Given the description of an element on the screen output the (x, y) to click on. 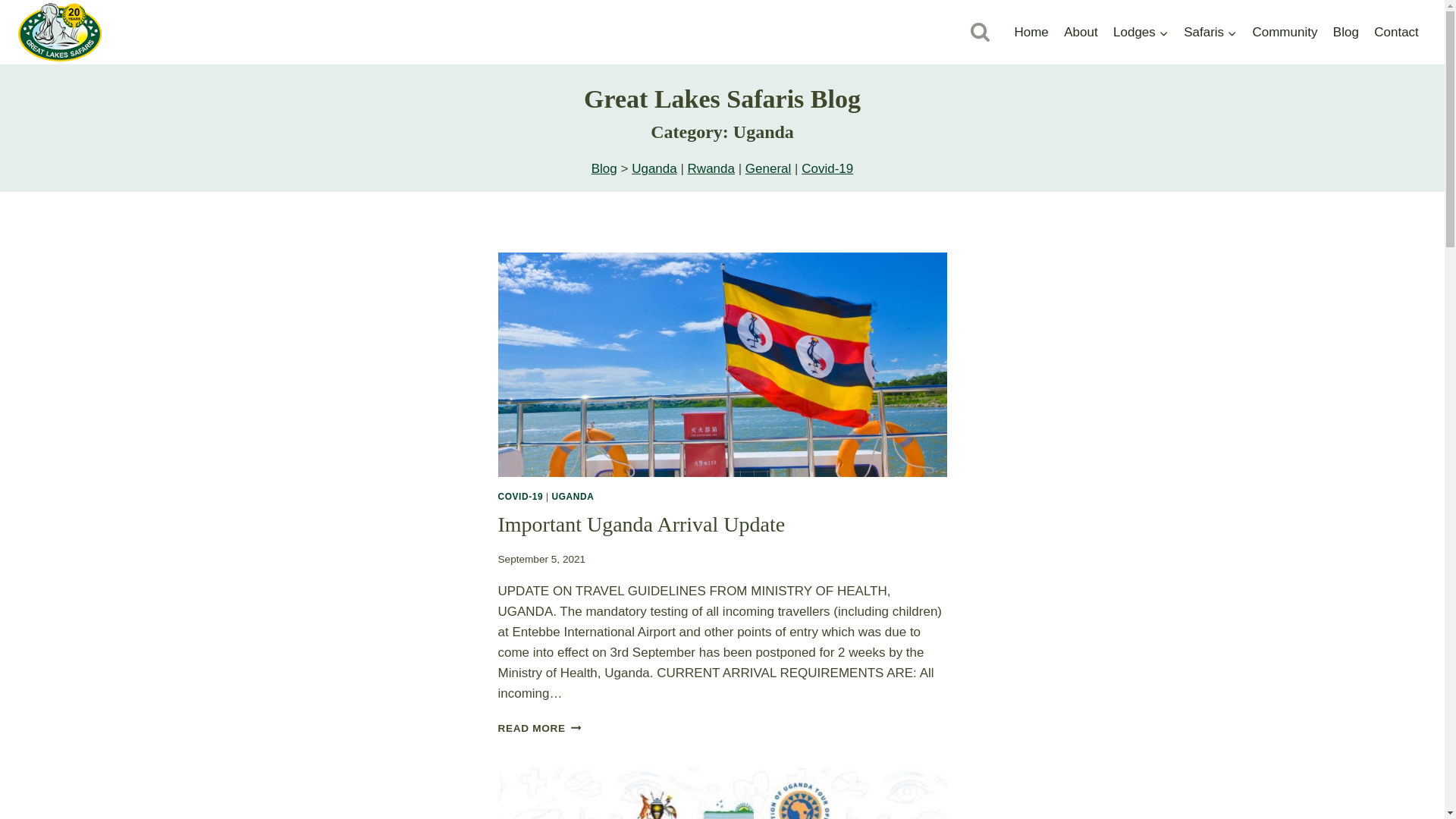
Uganda (654, 168)
Community (1284, 32)
Important Uganda Arrival Update (640, 524)
Safaris (1210, 32)
UGANDA (572, 496)
General (767, 168)
COVID-19 (520, 496)
About (1081, 32)
Lodges (1140, 32)
Home (1031, 32)
Rwanda (711, 168)
Covid-19 (827, 168)
Contact (1396, 32)
Blog (604, 168)
Blog (1345, 32)
